Given the description of an element on the screen output the (x, y) to click on. 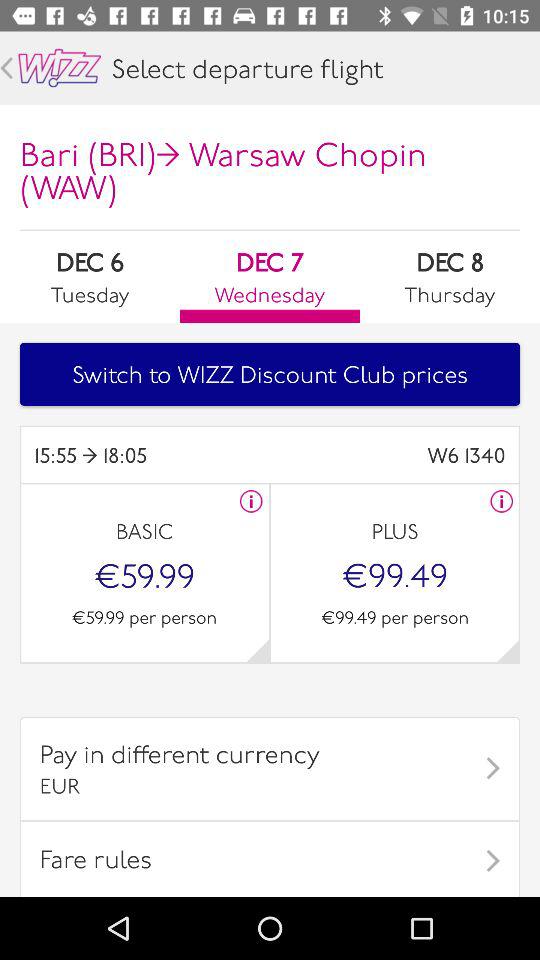
select icon next to w6 1340 item (152, 454)
